Given the description of an element on the screen output the (x, y) to click on. 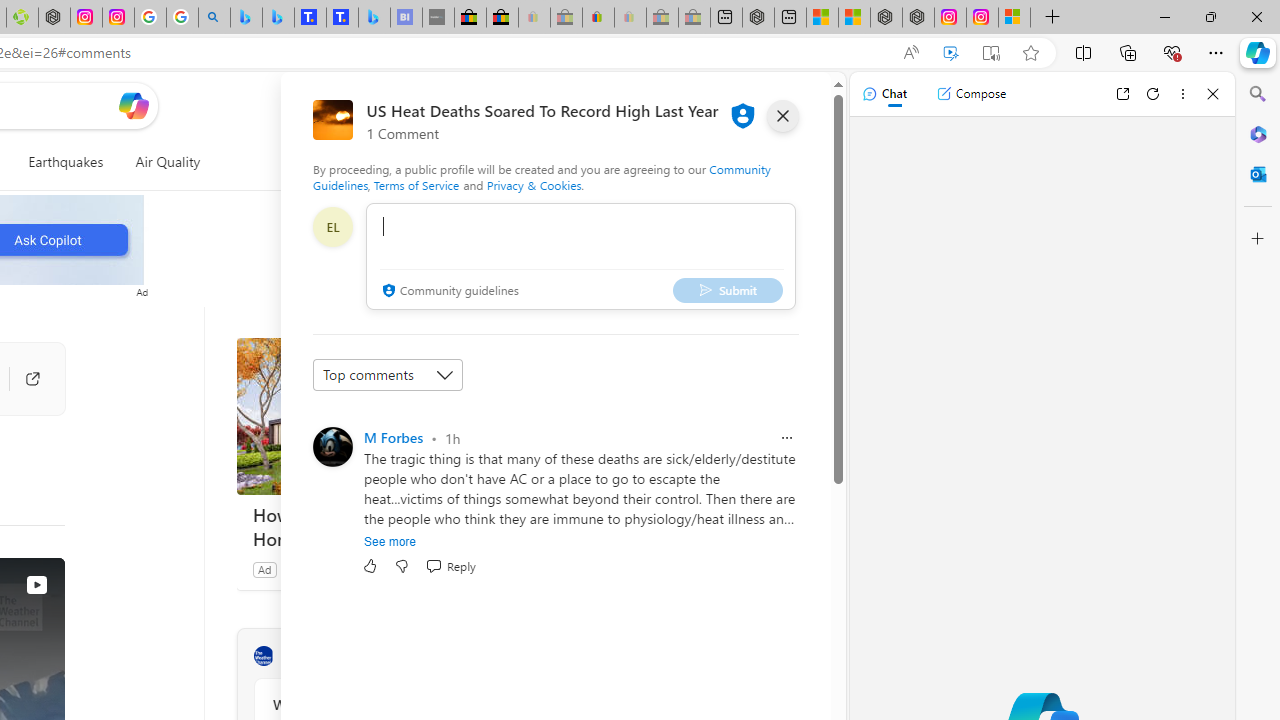
Go to publisher's site (22, 378)
Microsoft Bing Travel - Stays in Bangkok, Bangkok, Thailand (278, 17)
Microsoft Bing Travel - Shangri-La Hotel Bangkok (374, 17)
Microsoft Bing Travel - Flights from Hong Kong to Bangkok (246, 17)
Safety in Our Products - Google Safety Center (150, 17)
The Weather Channel (263, 655)
Community Guidelines (541, 176)
Terms of Service (416, 184)
Report comment (786, 437)
Yard, Garden & Outdoor Living - Sleeping (694, 17)
